Given the description of an element on the screen output the (x, y) to click on. 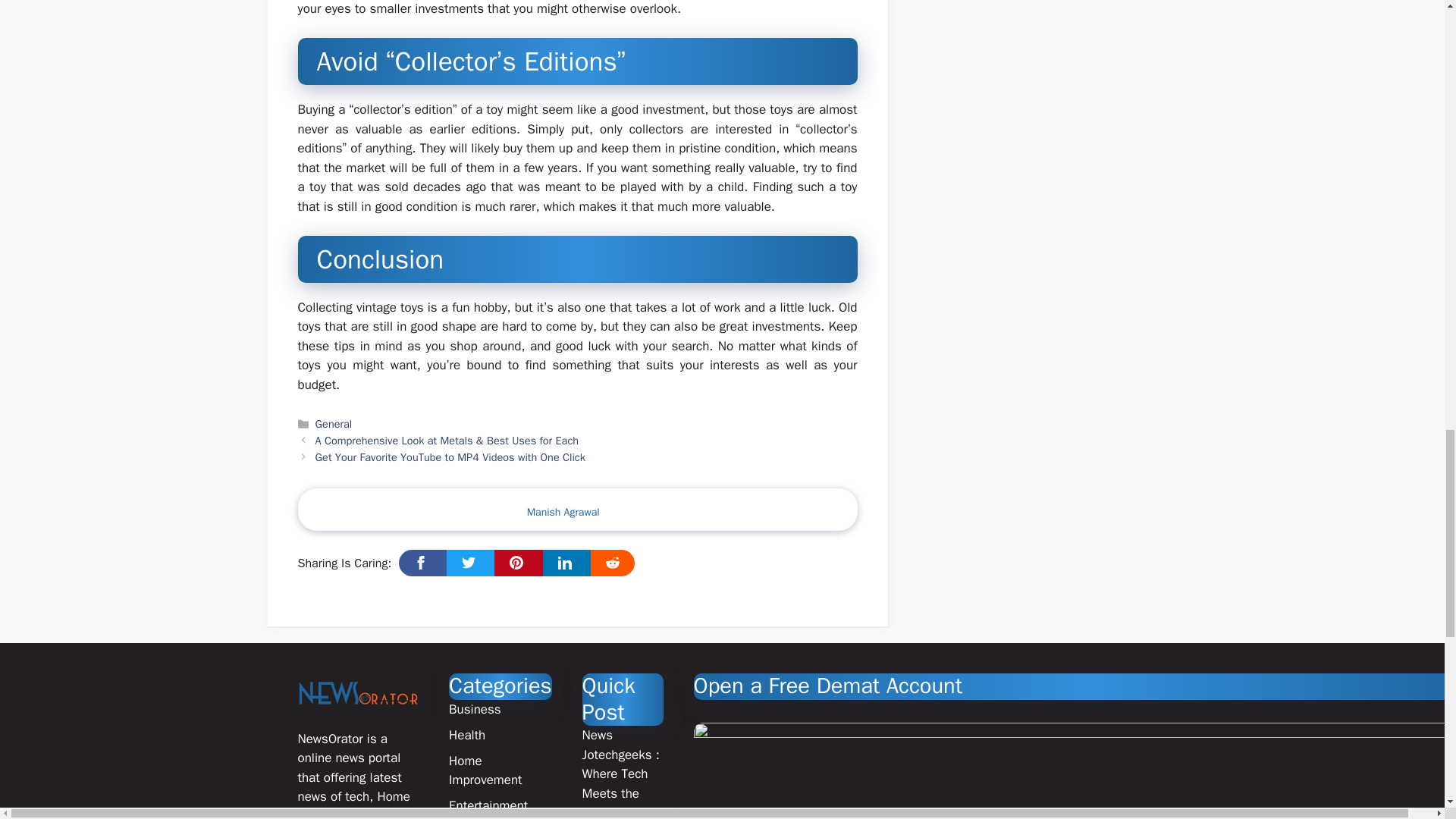
Contact this author (563, 512)
NewsOrator (358, 692)
General (333, 423)
